Given the description of an element on the screen output the (x, y) to click on. 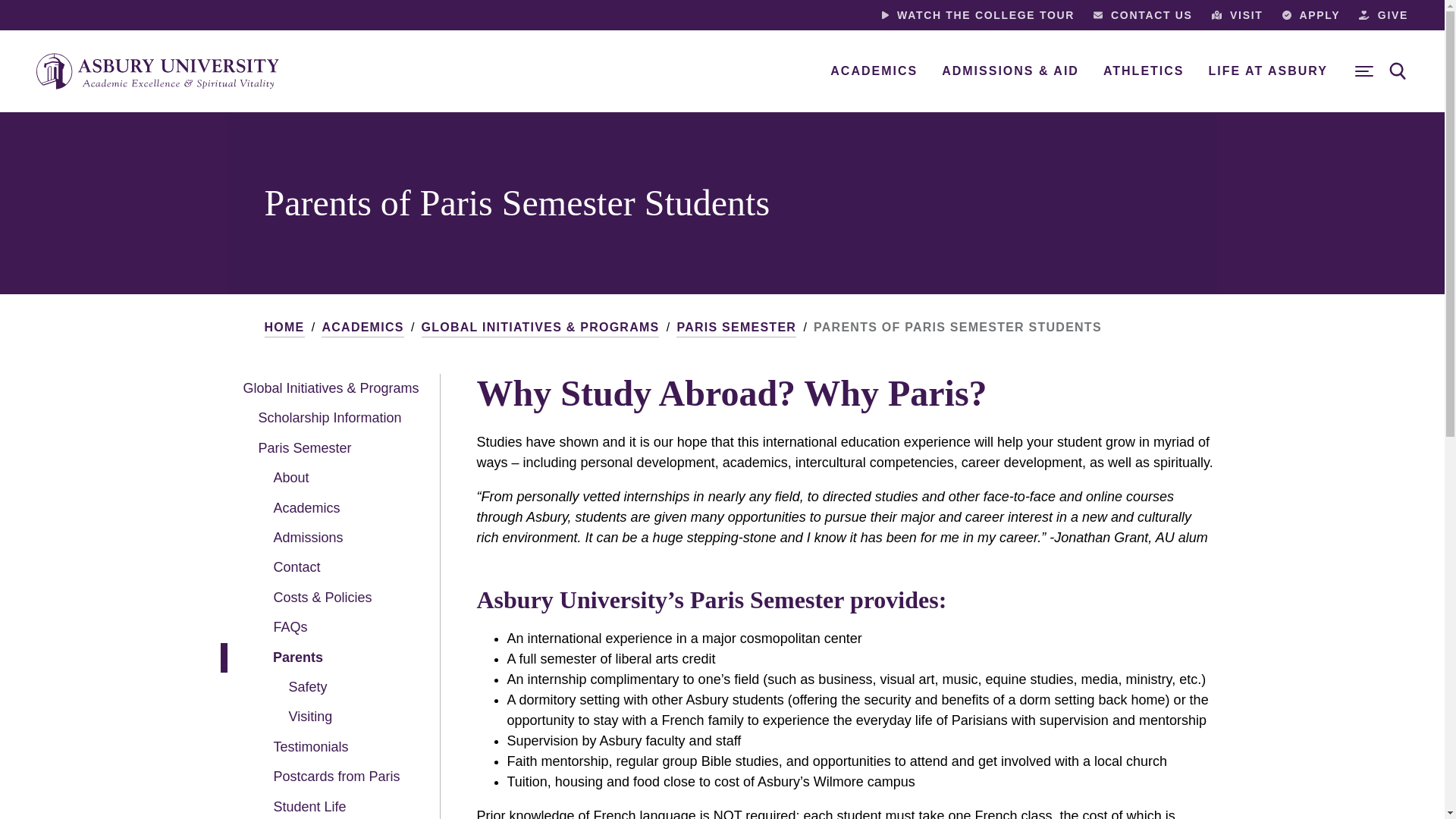
PARIS SEMESTER (736, 327)
WATCH THE COLLEGE TOUR (978, 15)
GIVE (1382, 15)
Scholarship Information (326, 418)
LIFE AT ASBURY (1267, 70)
ACADEMICS (873, 70)
APPLY (1311, 15)
Paris Semester (326, 448)
HOME (283, 327)
Search (1398, 71)
CONTACT US (1142, 15)
VISIT (1237, 15)
Menu (1363, 70)
ATHLETICS (1144, 70)
Asbury University (157, 71)
